Given the description of an element on the screen output the (x, y) to click on. 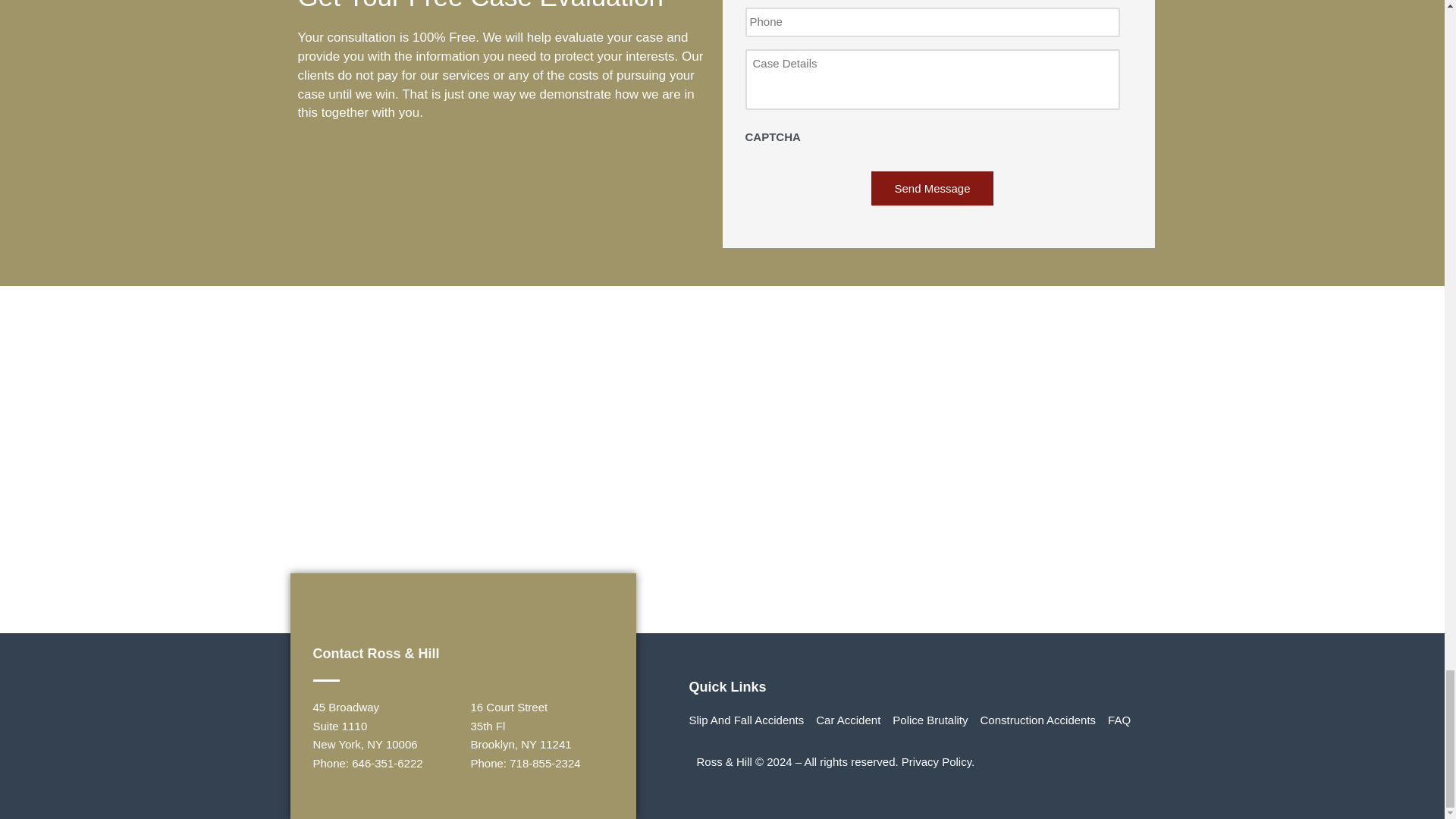
Send Message (931, 188)
